Given the description of an element on the screen output the (x, y) to click on. 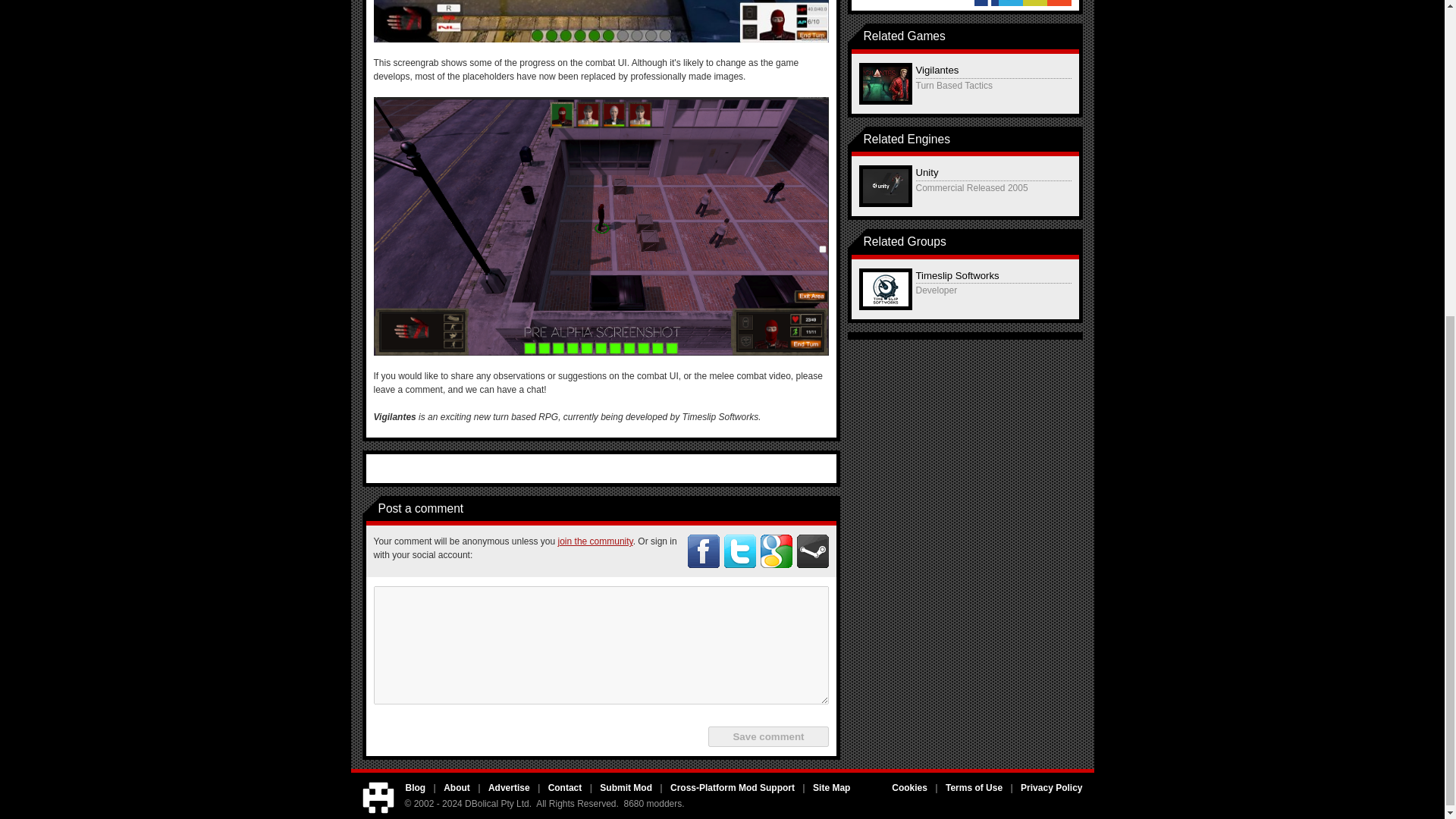
Click to connect via Facebook (703, 551)
Click to connect via Google (776, 551)
Click to connect via Twitter (739, 551)
Click to connect via Steam (812, 551)
Save comment (767, 736)
